Given the description of an element on the screen output the (x, y) to click on. 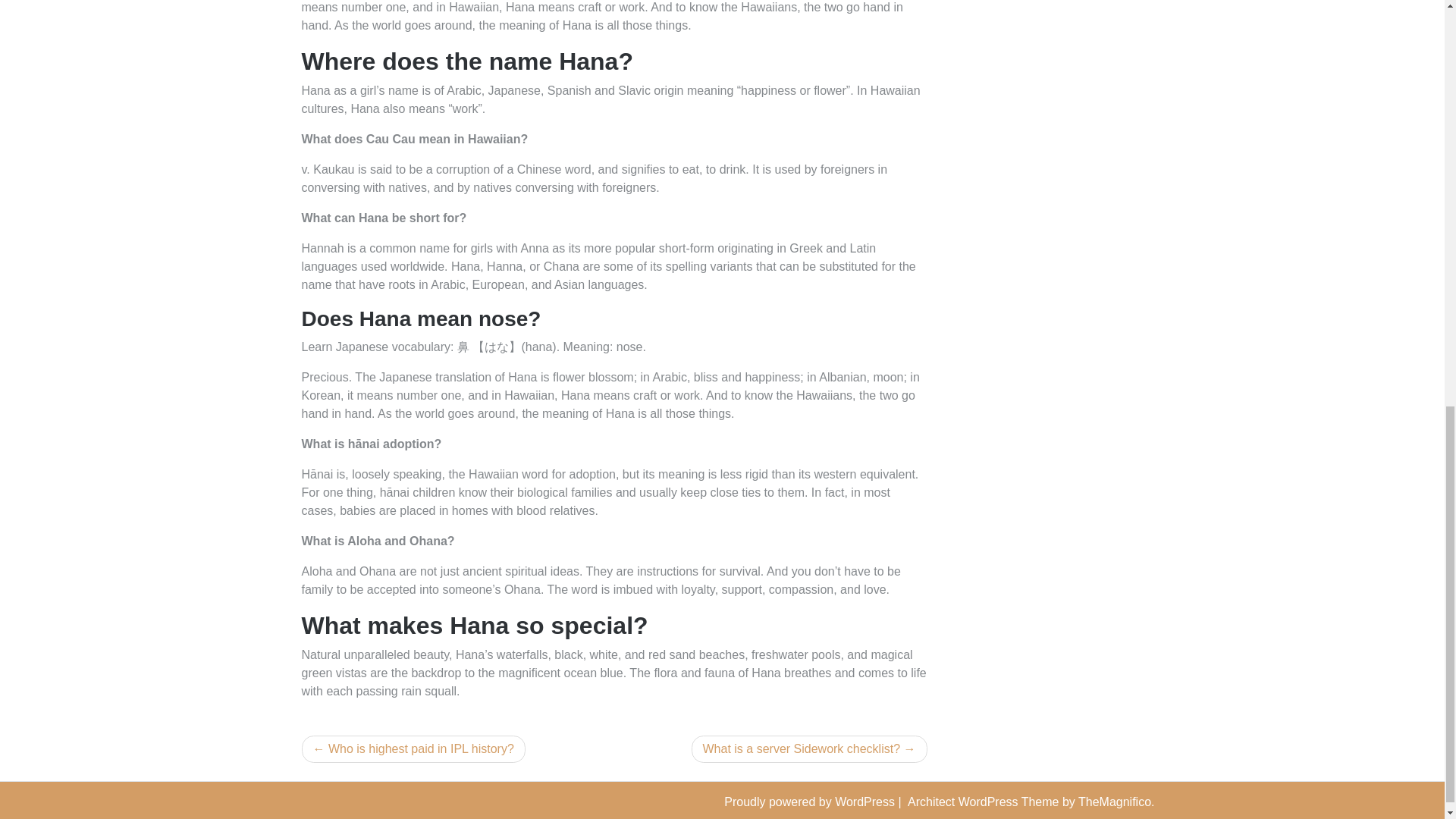
Proudly powered by WordPress (810, 801)
Who is highest paid in IPL history? (413, 748)
What is a server Sidework checklist? (809, 748)
